Given the description of an element on the screen output the (x, y) to click on. 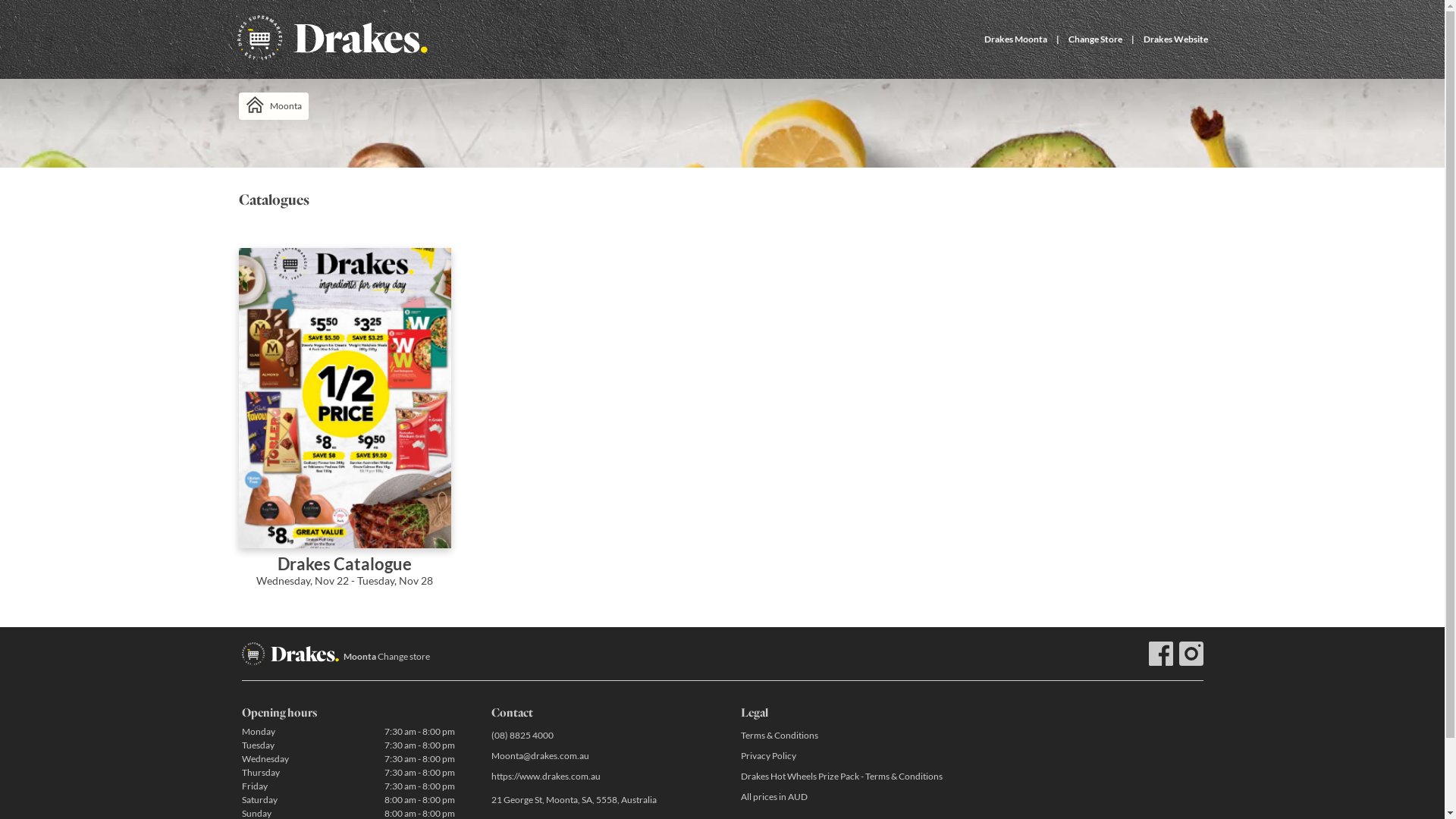
(08) 8825 4000 Element type: text (597, 734)
Moonta Element type: text (272, 105)
Privacy Policy Element type: text (846, 755)
21 George St, Moonta, SA, 5558, Australia Element type: text (597, 800)
Drakes Website Element type: text (1175, 38)
Facebook Element type: hover (1160, 653)
Moonta@drakes.com.au Element type: text (597, 755)
Instagram drakessupermarkets Element type: hover (1190, 653)
https://www.drakes.com.au Element type: text (597, 775)
Drakes Hot Wheels Prize Pack - Terms & Conditions Element type: text (846, 775)
Change Store Element type: text (1094, 38)
Terms & Conditions Element type: text (846, 734)
Drakes Catalogue
Wednesday, Nov 22 - Tuesday, Nov 28 Element type: text (344, 427)
Moonta Change store Element type: text (385, 656)
